Given the description of an element on the screen output the (x, y) to click on. 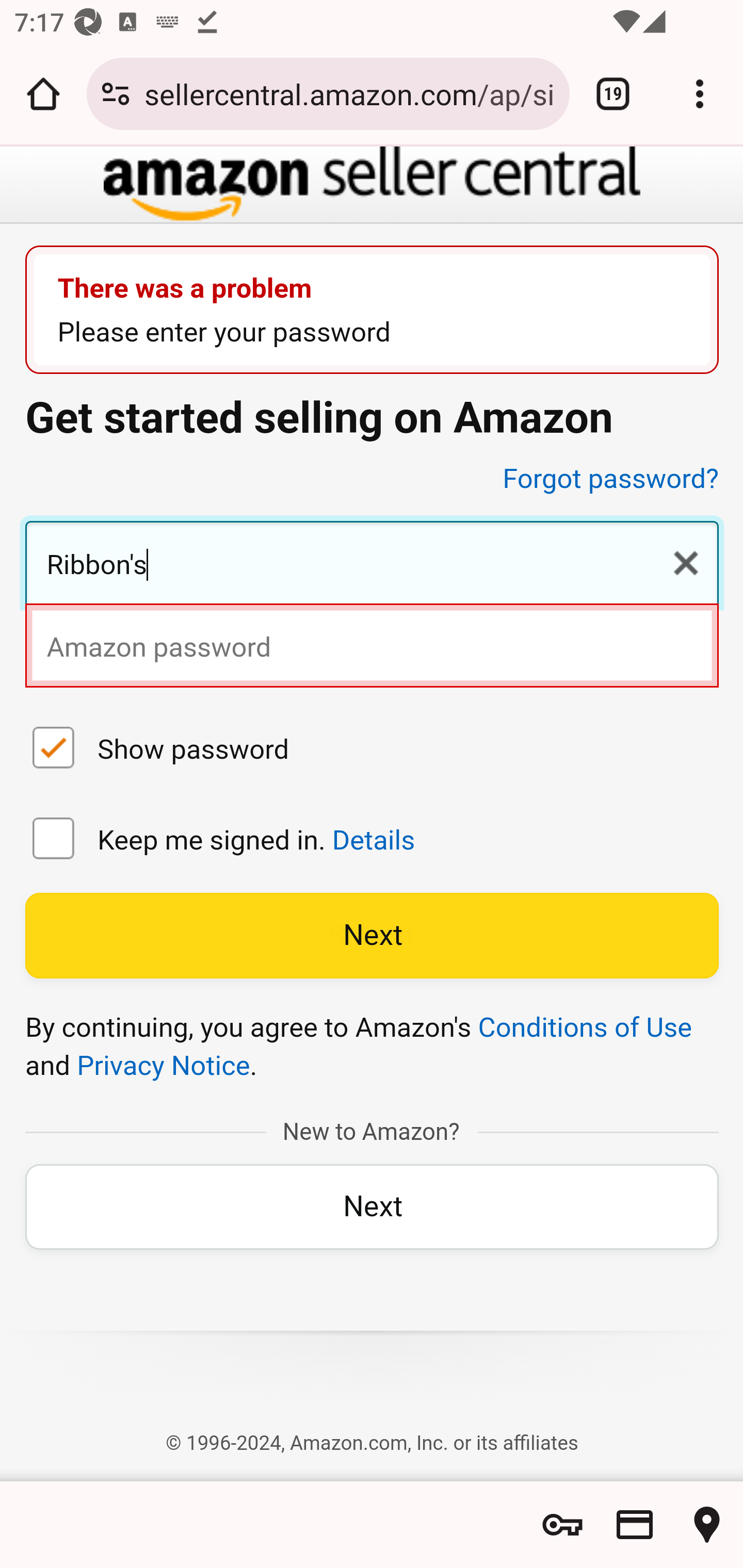
Open the home page (43, 93)
Connection is secure (115, 93)
Switch or close tabs (612, 93)
Customize and control Google Chrome (699, 93)
Forgot password? (610, 478)
Ribbon's (371, 565)
Show password (53, 750)
Keep me signed in. Details (53, 841)
Details (372, 840)
Next (371, 935)
Conditions of Use (585, 1027)
Privacy Notice (163, 1065)
Next (371, 1206)
Show saved passwords and password options (562, 1524)
Show saved payment methods (634, 1524)
Show saved addresses (706, 1524)
